Given the description of an element on the screen output the (x, y) to click on. 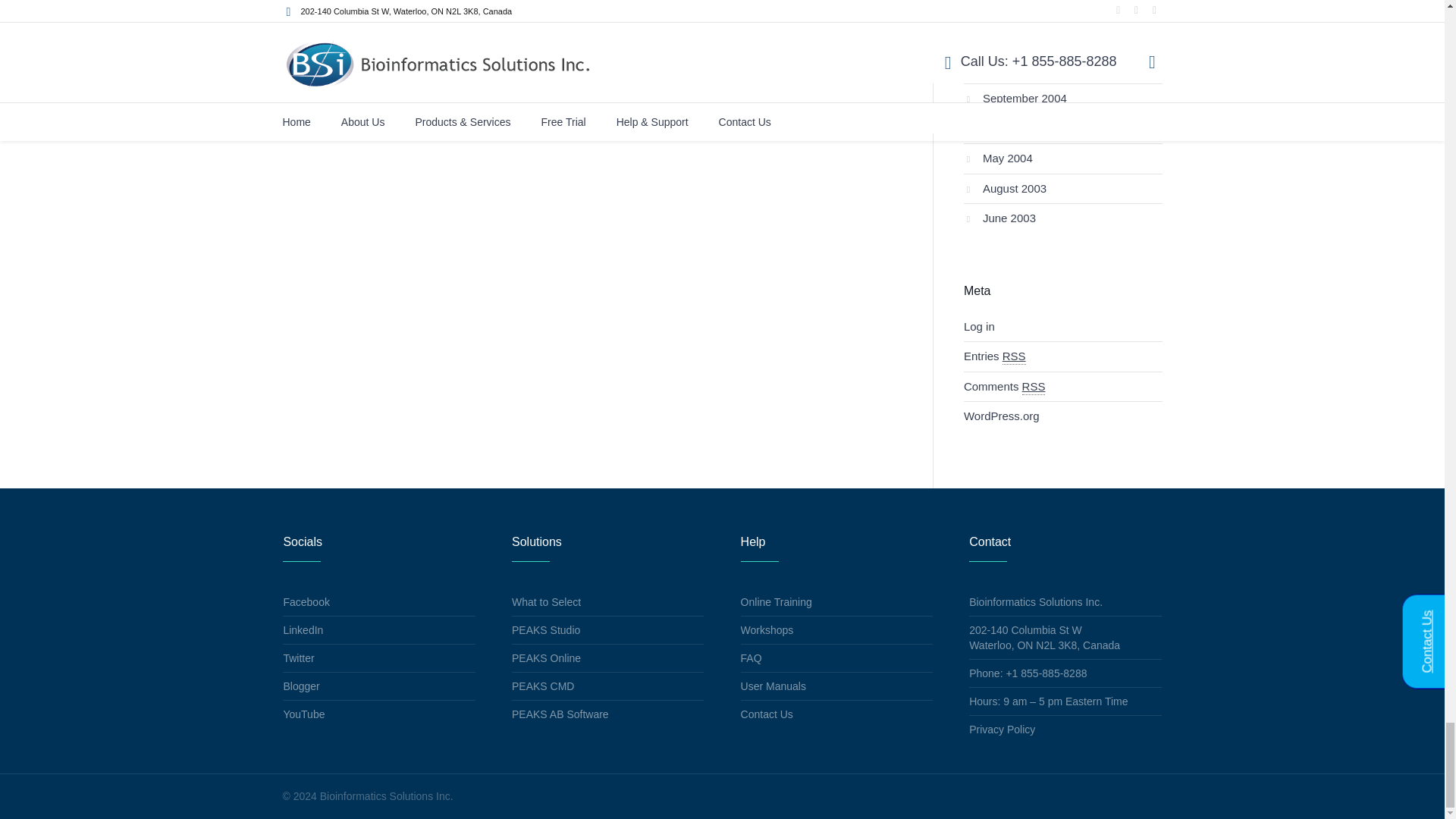
Syndicate this site using RSS 2.0 (994, 355)
Really Simple Syndication (1033, 386)
Really Simple Syndication (1014, 356)
The latest comments to all posts in RSS (1004, 385)
